Given the description of an element on the screen output the (x, y) to click on. 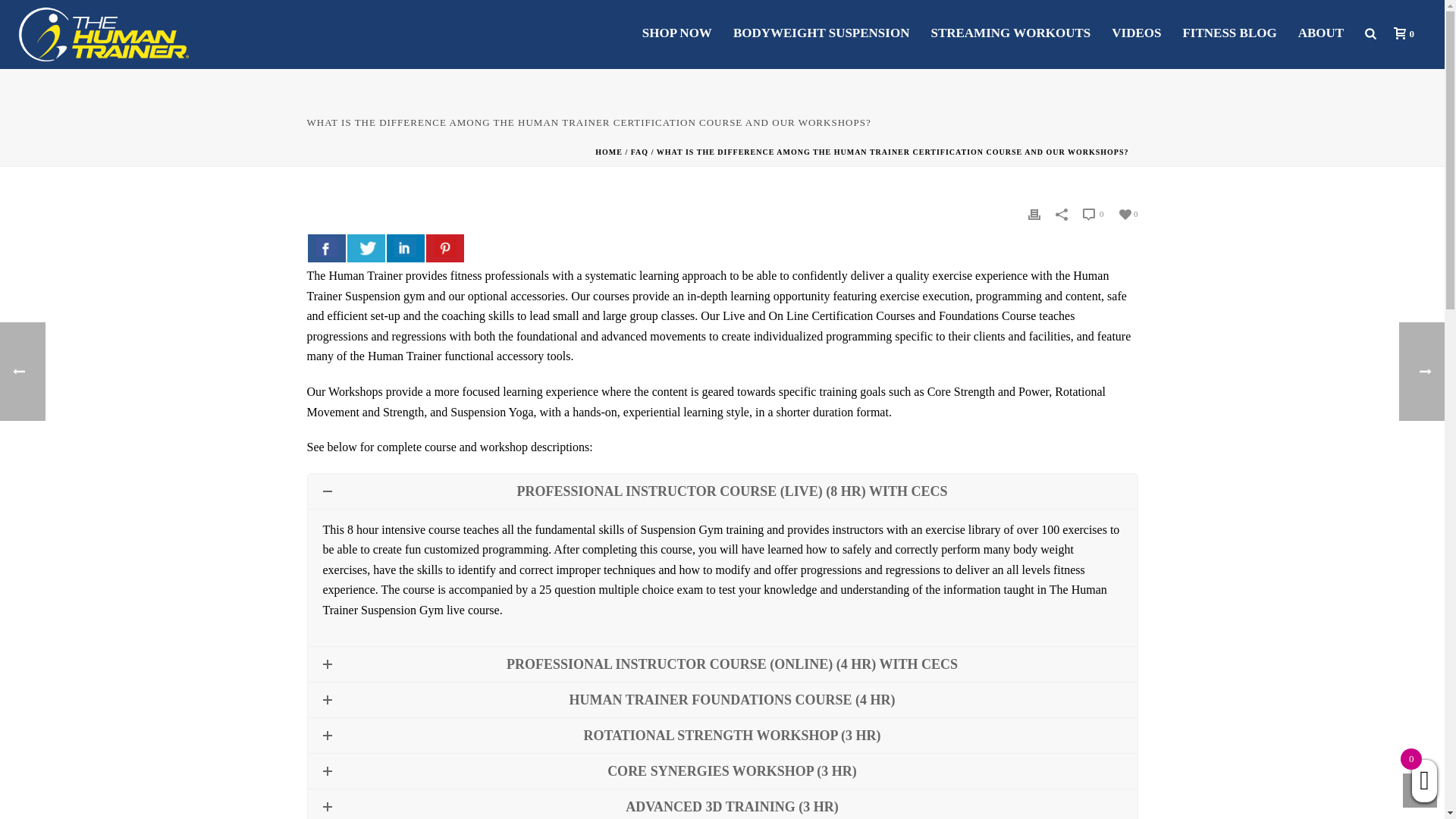
VIDEOS (1136, 32)
STREAMING WORKOUTS (1010, 32)
FITNESS BLOG (1229, 32)
BODYWEIGHT SUSPENSION (820, 32)
SHOP NOW (676, 32)
0 (1400, 33)
Total Body Portable Training System (105, 33)
Share On Linkedin (406, 248)
STREAMING WORKOUTS (1010, 32)
VIDEOS (1136, 32)
ABOUT (1320, 32)
Share On Facebook (326, 248)
FITNESS BLOG (1229, 32)
Share On Twitter (366, 248)
Share On Pinterest (445, 248)
